Given the description of an element on the screen output the (x, y) to click on. 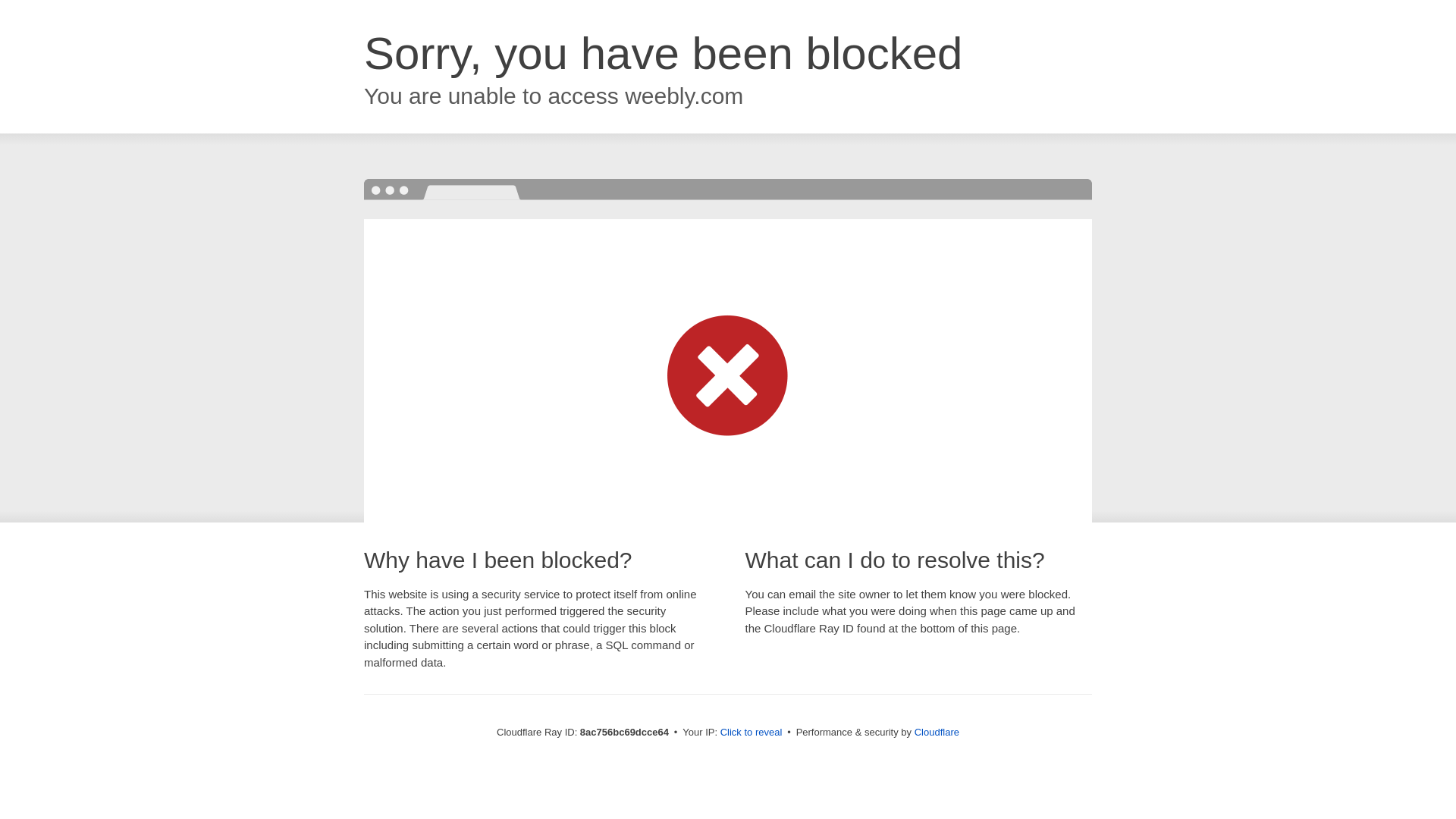
Cloudflare (936, 731)
Click to reveal (751, 732)
